Given the description of an element on the screen output the (x, y) to click on. 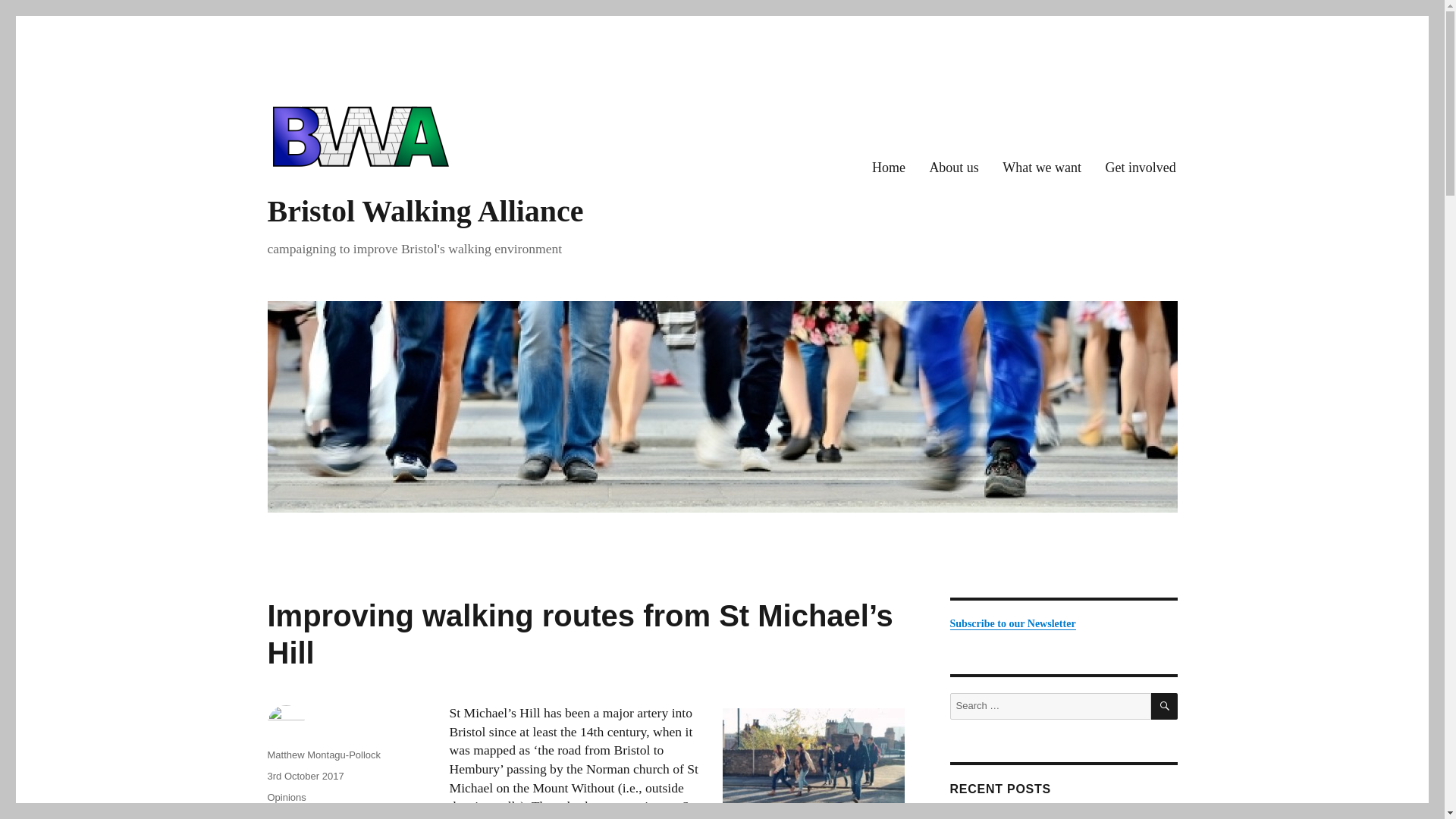
About us (954, 168)
What we want (1042, 168)
SEARCH (1164, 705)
Home (888, 168)
3rd October 2017 (304, 776)
Opinions (285, 797)
Get involved (1140, 168)
Subscribe to our Newsletter (1012, 623)
Bristol Walking Alliance (424, 211)
Matthew Montagu-Pollock (323, 754)
